Given the description of an element on the screen output the (x, y) to click on. 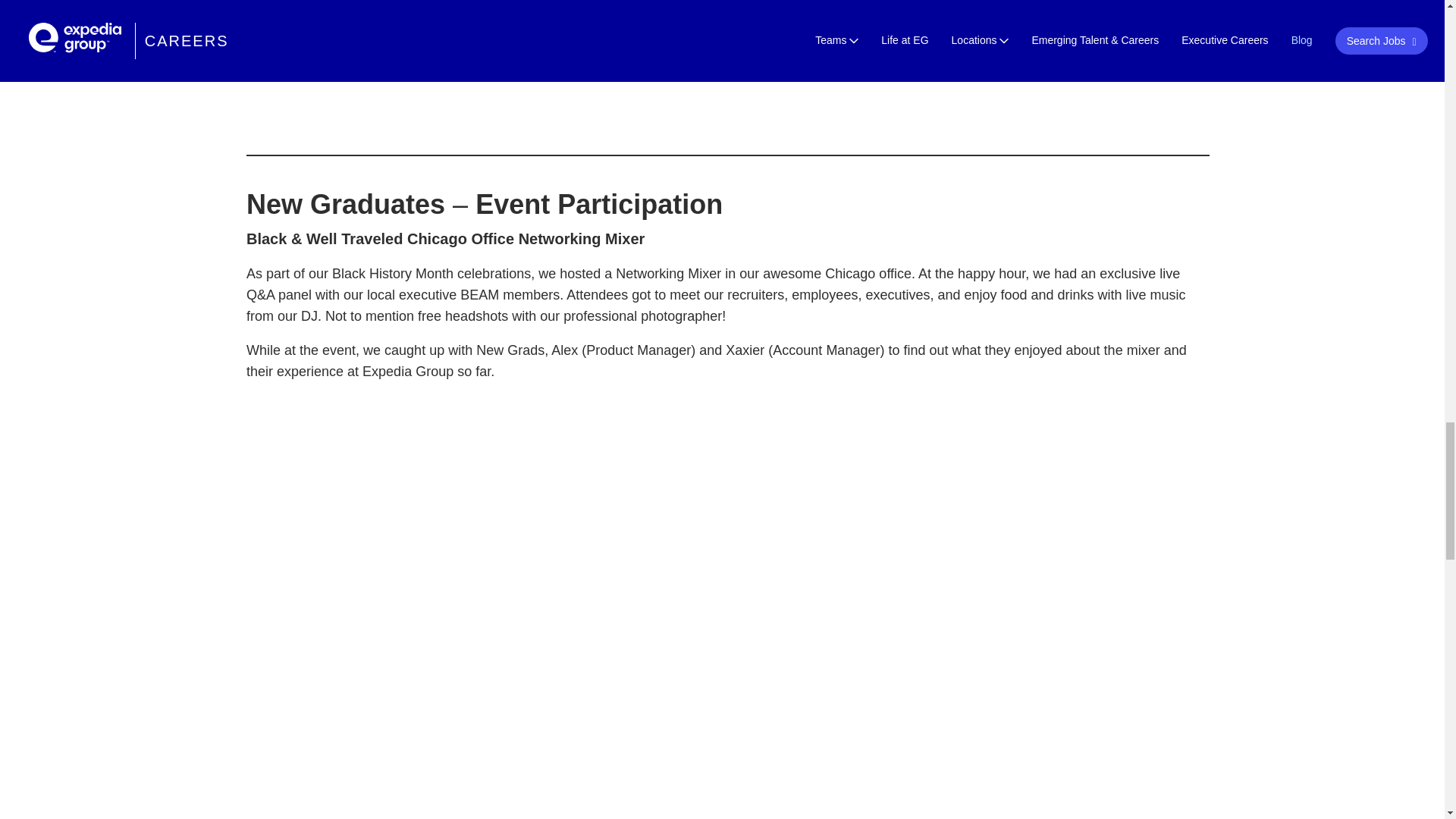
Early Careers: Talking Inclusion Business Groups with Annie (727, 58)
